Given the description of an element on the screen output the (x, y) to click on. 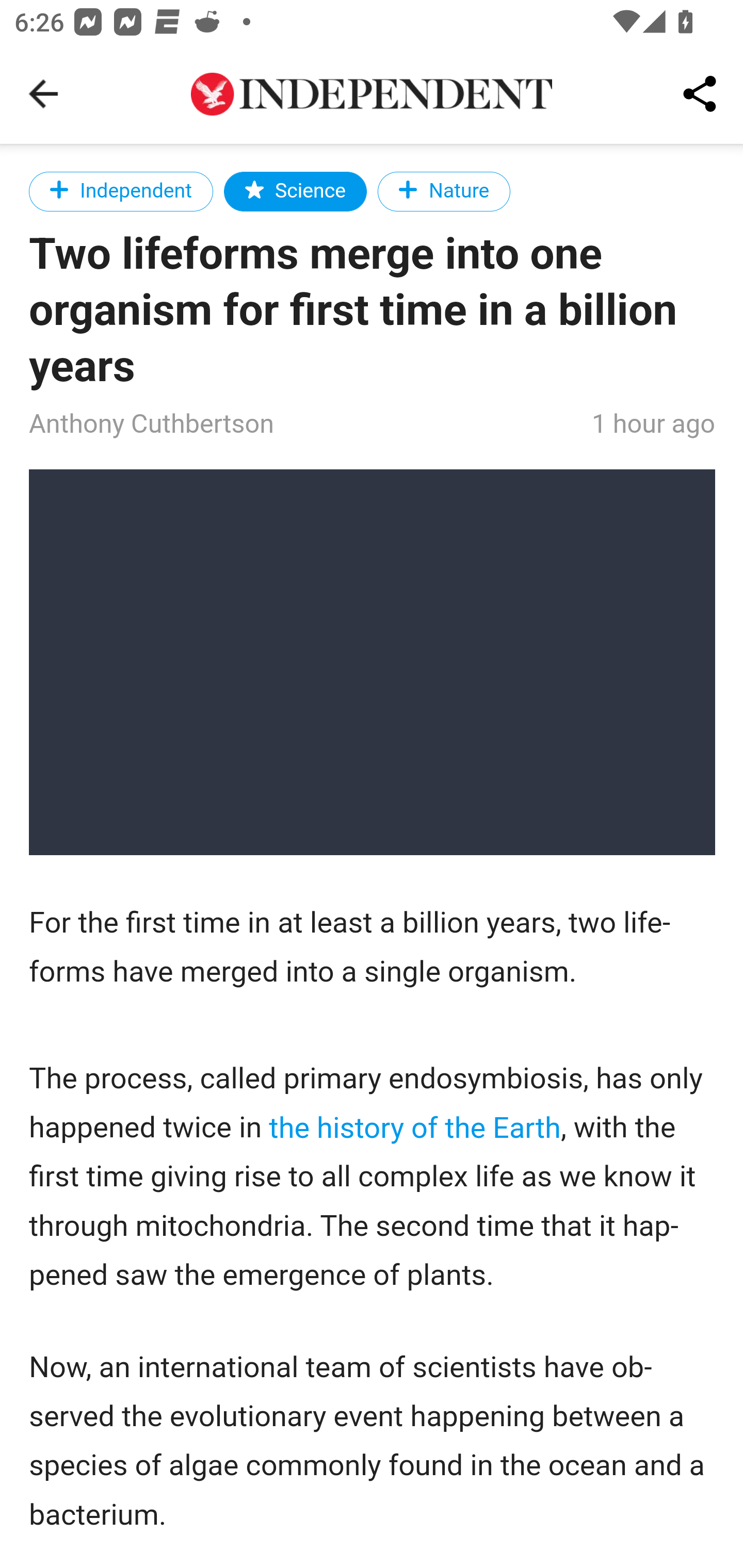
Independent (121, 191)
Science (295, 191)
Nature (443, 191)
the history of the Earth (414, 1128)
